Given the description of an element on the screen output the (x, y) to click on. 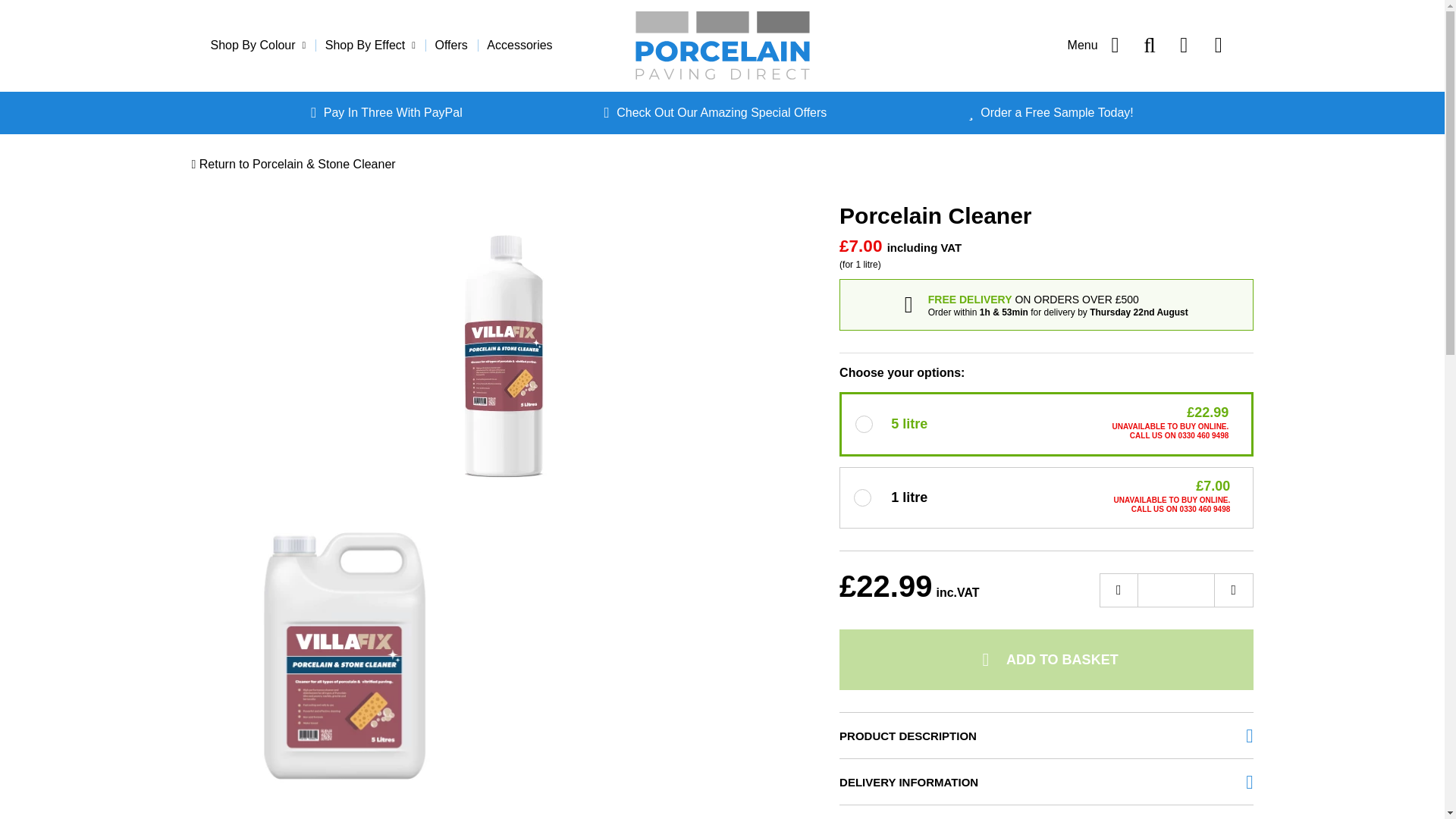
Shop By Effect   (370, 45)
Menu (1097, 45)
Shop By Colour   (263, 45)
Accessories (519, 45)
Offers (451, 45)
